Given the description of an element on the screen output the (x, y) to click on. 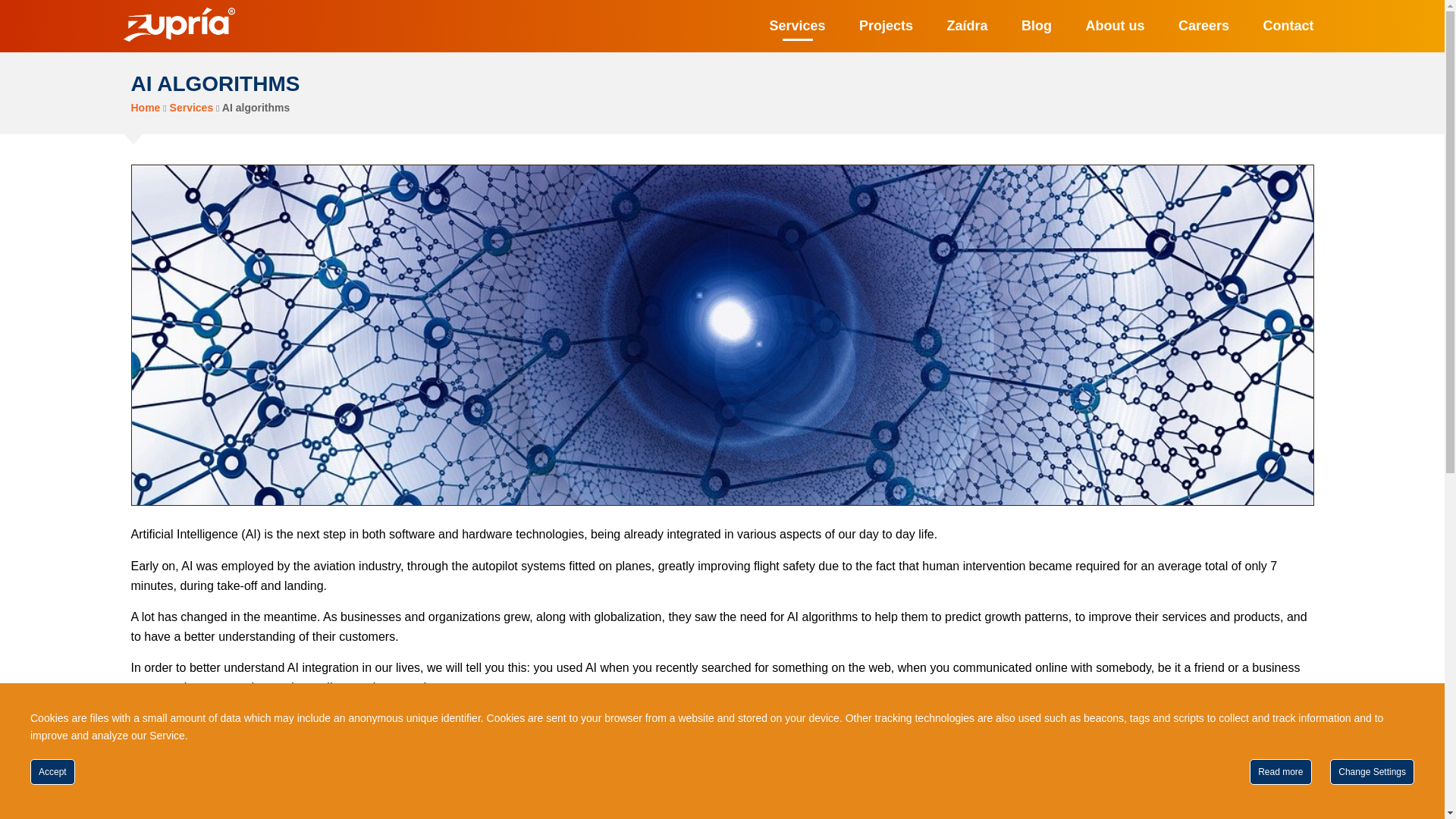
Projects (885, 25)
Careers (1202, 25)
Contact (1288, 25)
Home (145, 107)
Blog (1036, 25)
Services (192, 107)
About us (1115, 25)
Services (797, 25)
